Given the description of an element on the screen output the (x, y) to click on. 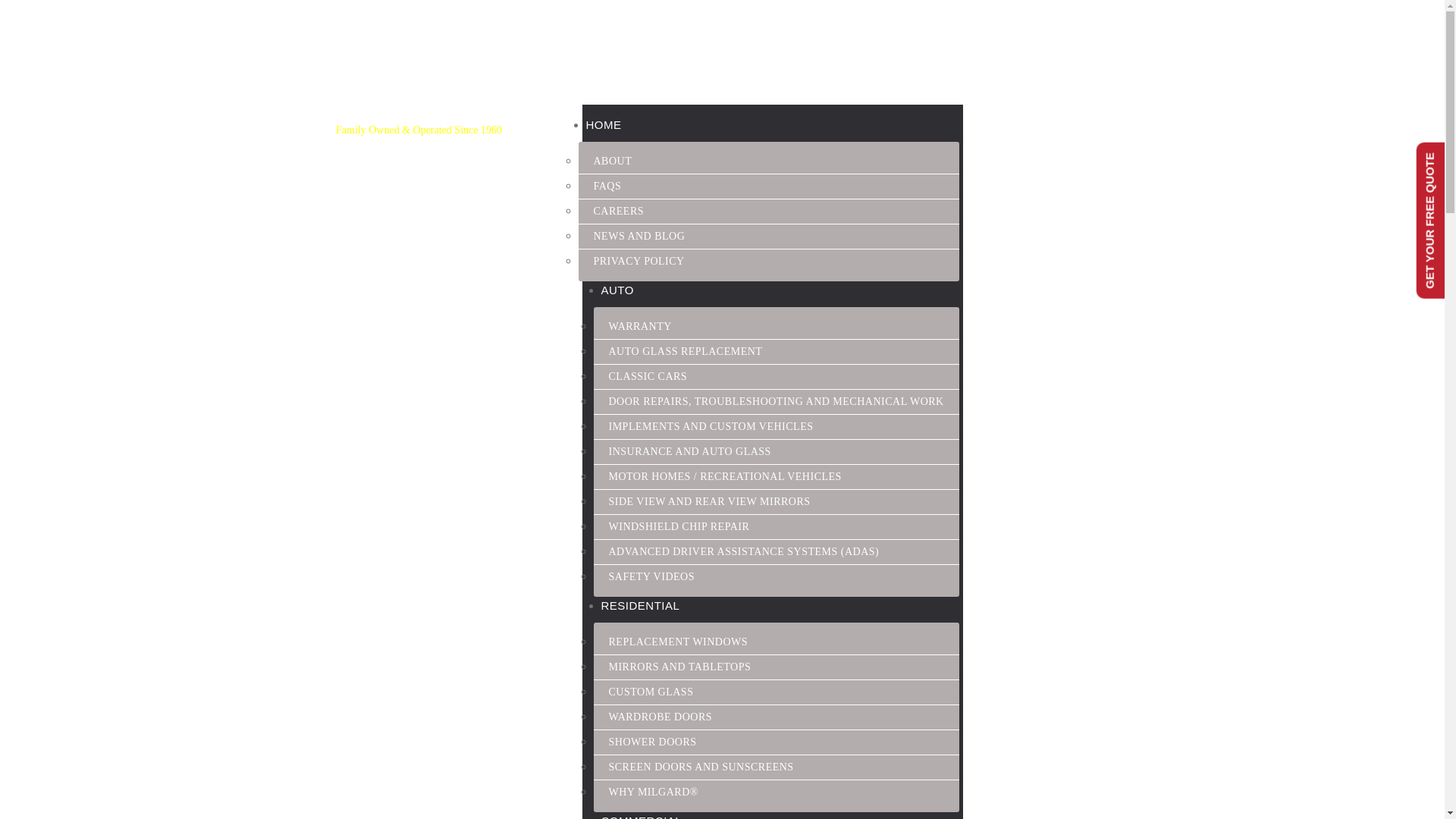
PRIVACY POLICY (638, 260)
IMPLEMENTS AND CUSTOM VEHICLES (710, 426)
REPLACEMENT WINDOWS (677, 641)
CLASSIC CARS (646, 376)
ABOUT (612, 161)
HOME (603, 124)
SIDE VIEW AND REAR VIEW MIRRORS (708, 501)
FAQS (607, 185)
WINDSHIELD CHIP REPAIR (678, 526)
NEWS AND BLOG (639, 235)
